Given the description of an element on the screen output the (x, y) to click on. 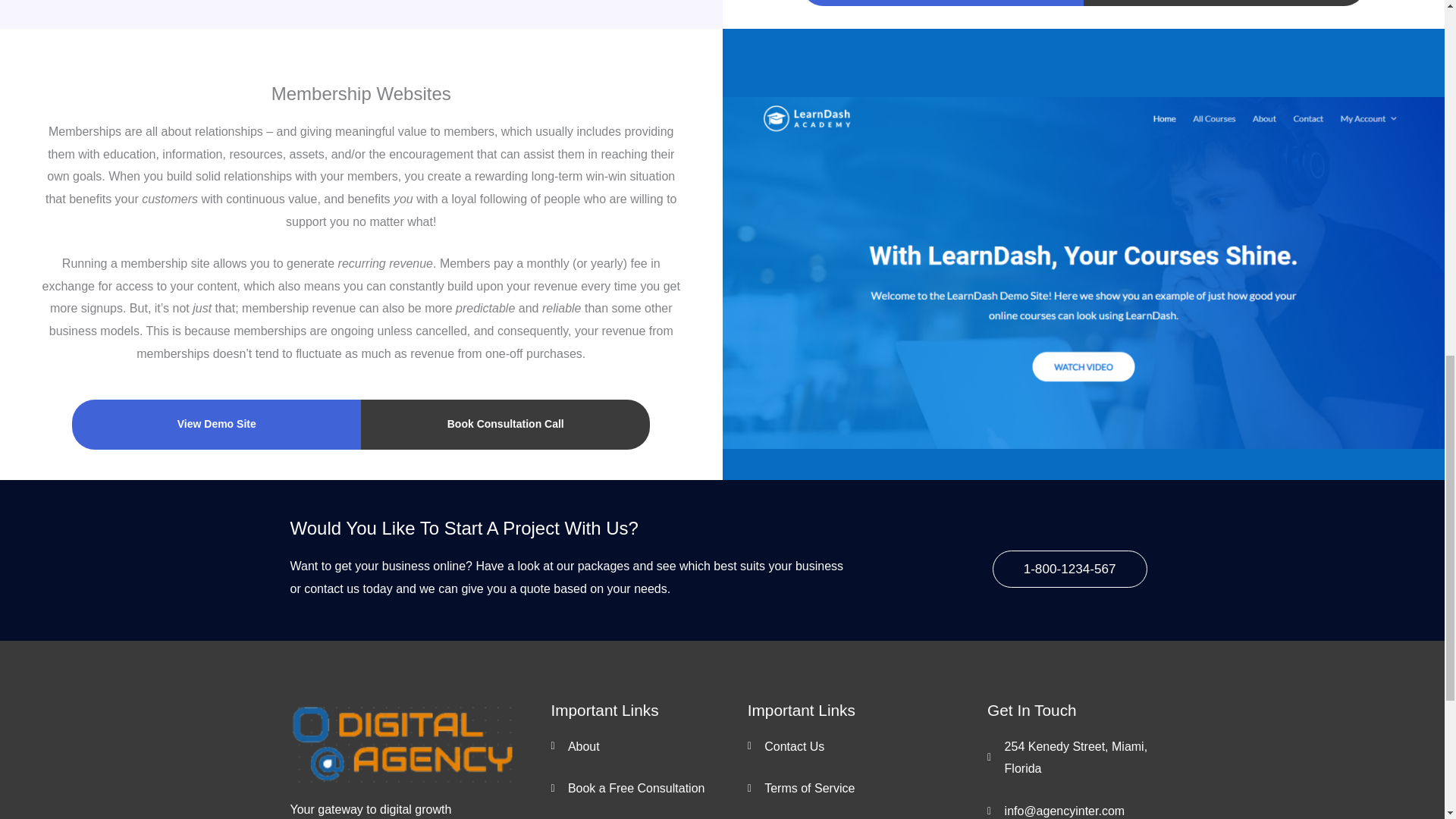
About (648, 746)
Book Consultation Call (505, 424)
View Demo Site (941, 2)
1-800-1234-567 (1069, 569)
Terms of Service (867, 788)
Contact Us (867, 746)
View Demo Site (216, 424)
Book a Free Consultation (648, 788)
Book Consultation Call (1225, 2)
